Given the description of an element on the screen output the (x, y) to click on. 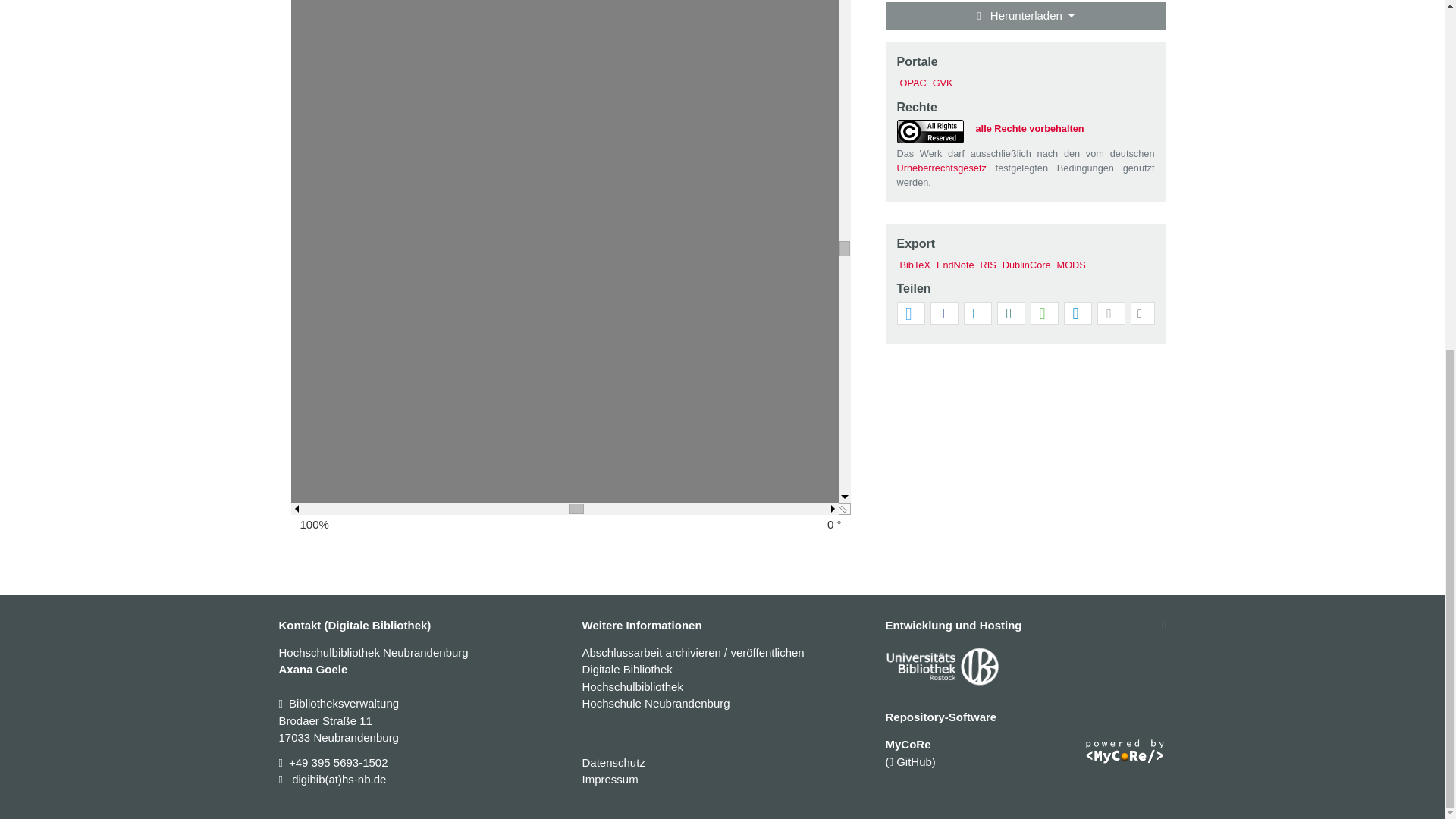
Bei Twitter teilen (909, 313)
